Given the description of an element on the screen output the (x, y) to click on. 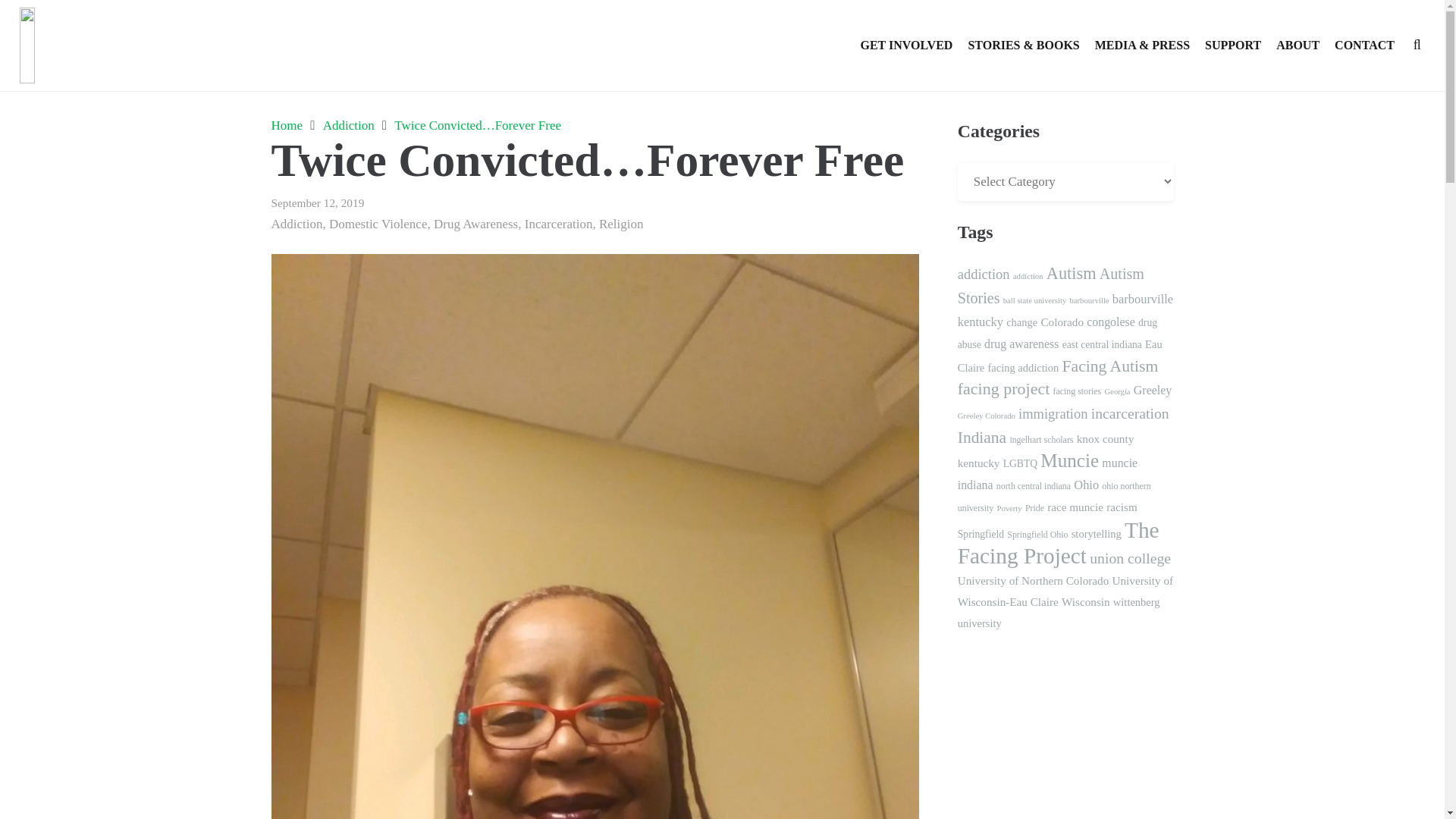
Religion (620, 223)
Incarceration (558, 223)
addiction (984, 273)
Domestic Violence (377, 223)
addiction (1028, 275)
Addiction (348, 124)
Addiction (296, 223)
Drug Awareness (475, 223)
GET INVOLVED (905, 45)
Home (286, 124)
